Given the description of an element on the screen output the (x, y) to click on. 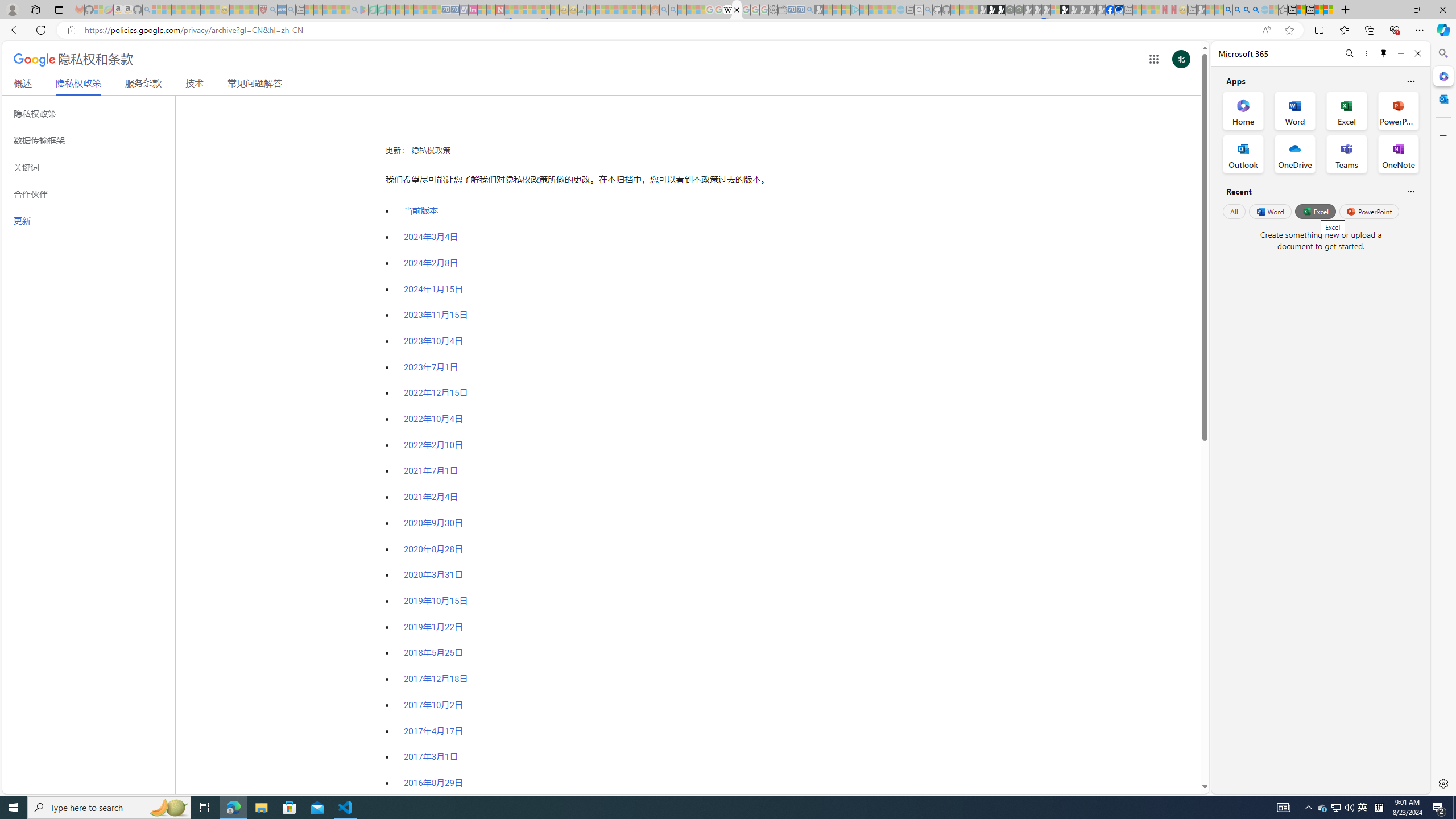
utah sues federal government - Search - Sleeping (290, 9)
list of asthma inhalers uk - Search - Sleeping (272, 9)
14 Common Myths Debunked By Scientific Facts - Sleeping (518, 9)
